Given the description of an element on the screen output the (x, y) to click on. 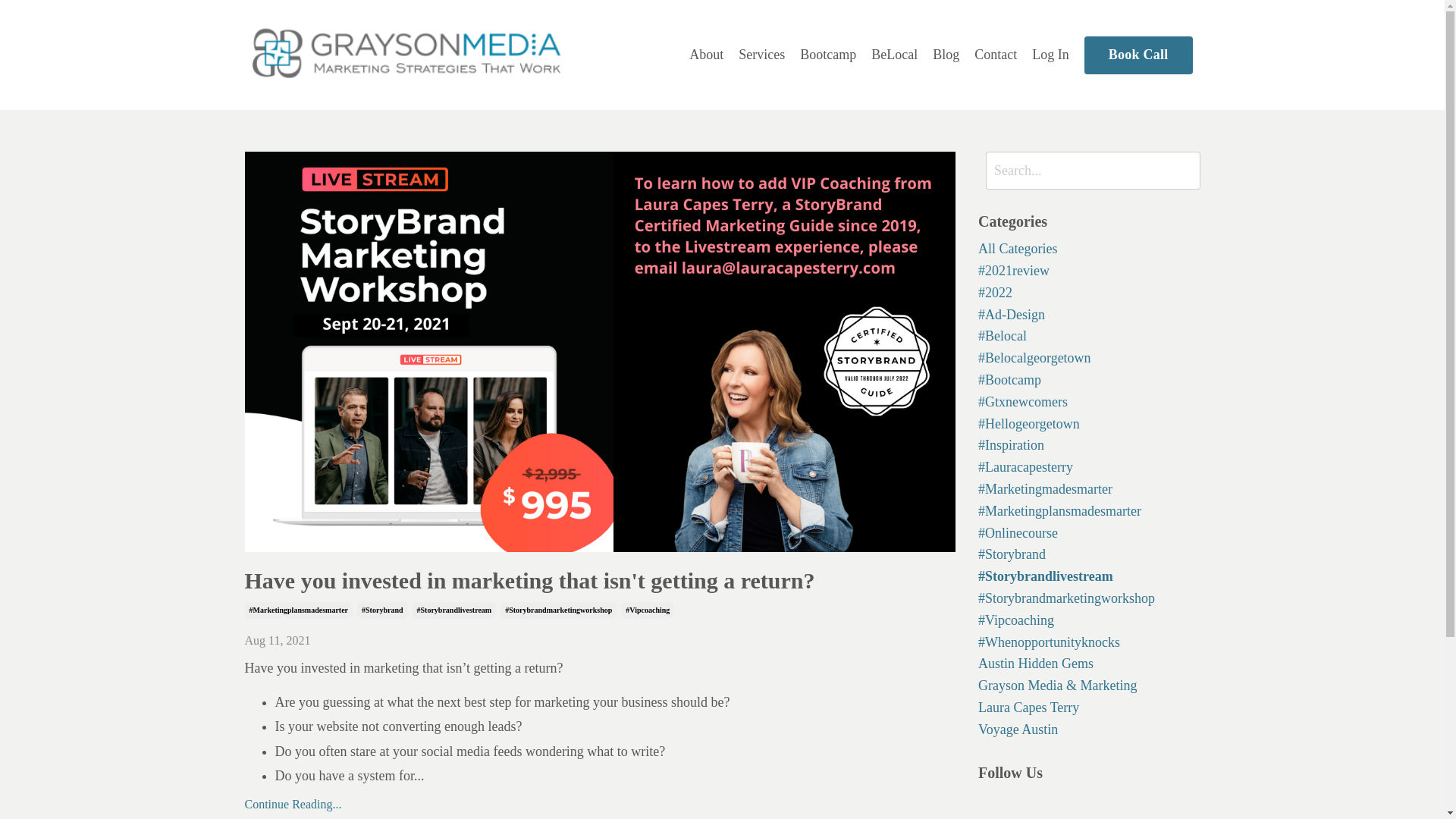
Book Call (1138, 55)
Services (761, 55)
About (705, 55)
Bootcamp (827, 55)
Voyage Austin (1088, 730)
Continue Reading... (599, 804)
Austin Hidden Gems (1088, 663)
Contact (995, 55)
Log In (1050, 54)
All Categories (1088, 249)
